Given the description of an element on the screen output the (x, y) to click on. 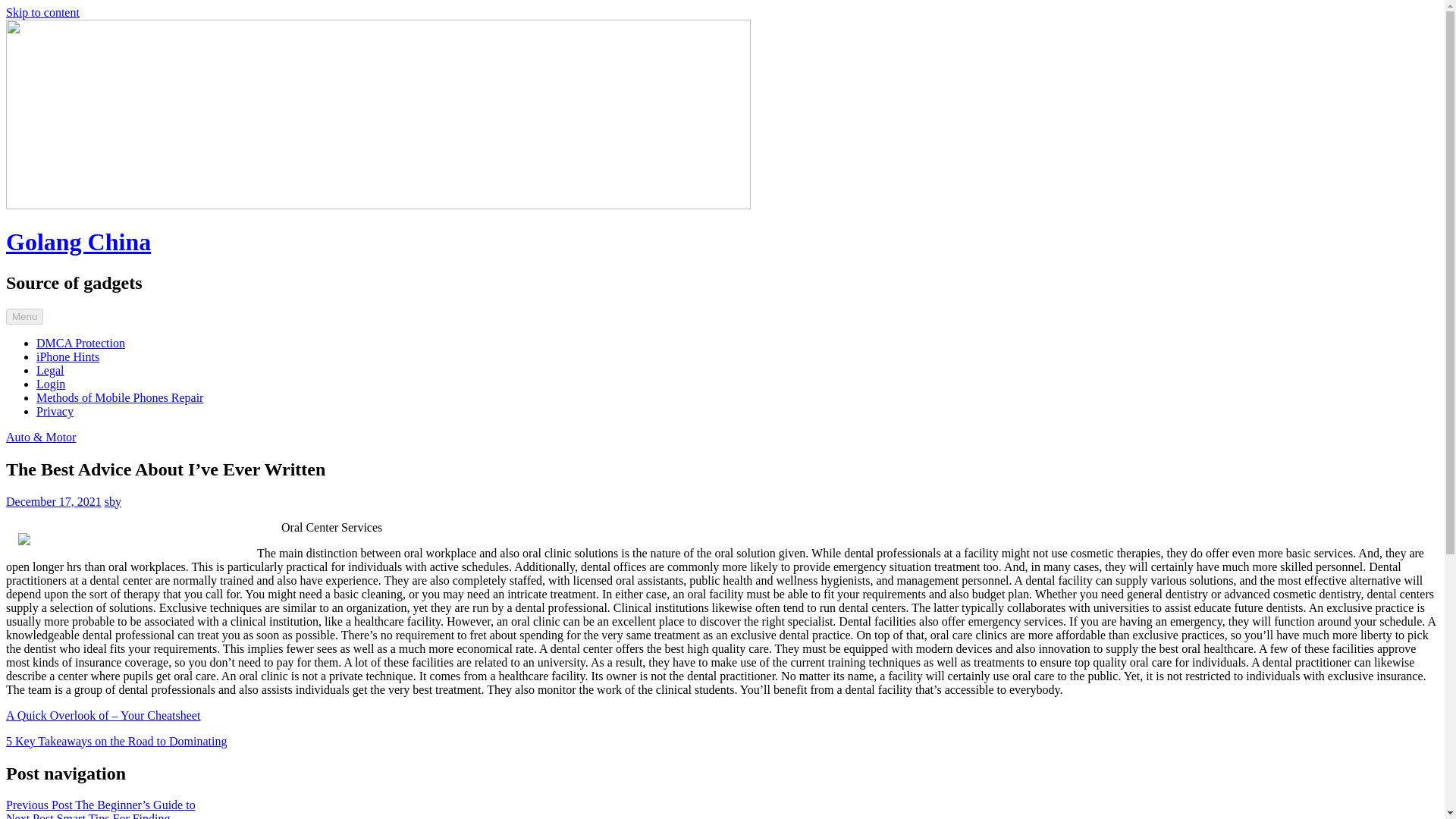
DMCA Protection (80, 342)
Menu (24, 316)
5 Key Takeaways on the Road to Dominating (116, 740)
Skip to content (42, 11)
Golang China (78, 241)
Methods of Mobile Phones Repair (119, 397)
Next Post Smart Tips For Finding (87, 815)
sby (112, 501)
iPhone Hints (67, 356)
Login (50, 383)
December 17, 2021 (53, 501)
Privacy (55, 410)
Legal (50, 369)
